Given the description of an element on the screen output the (x, y) to click on. 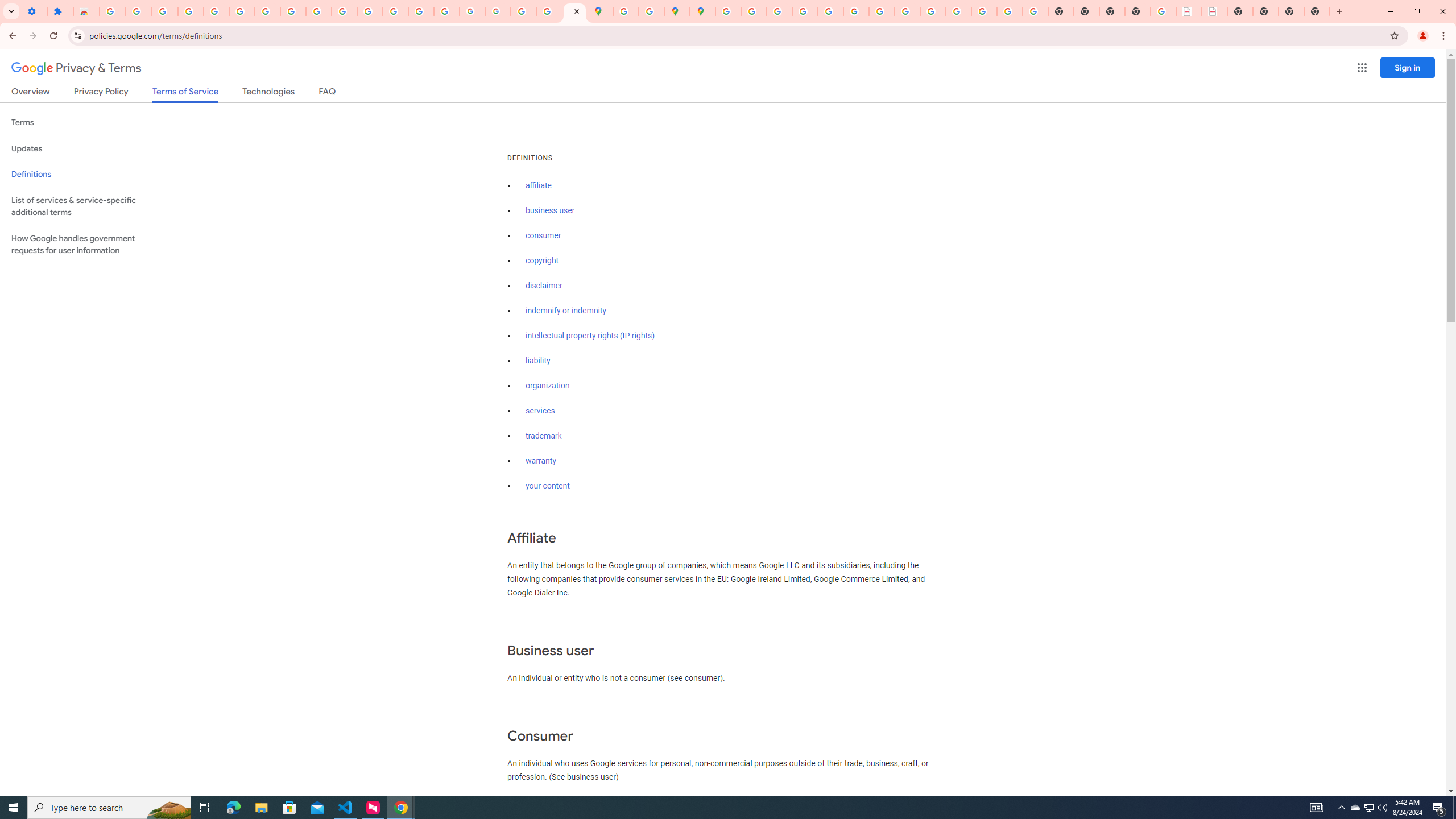
intellectual property rights (IP rights) (590, 335)
Google Maps (600, 11)
List of services & service-specific additional terms (86, 206)
YouTube (318, 11)
Privacy Help Center - Policies Help (804, 11)
Terms (86, 122)
https://scholar.google.com/ (369, 11)
Settings - On startup (34, 11)
